Given the description of an element on the screen output the (x, y) to click on. 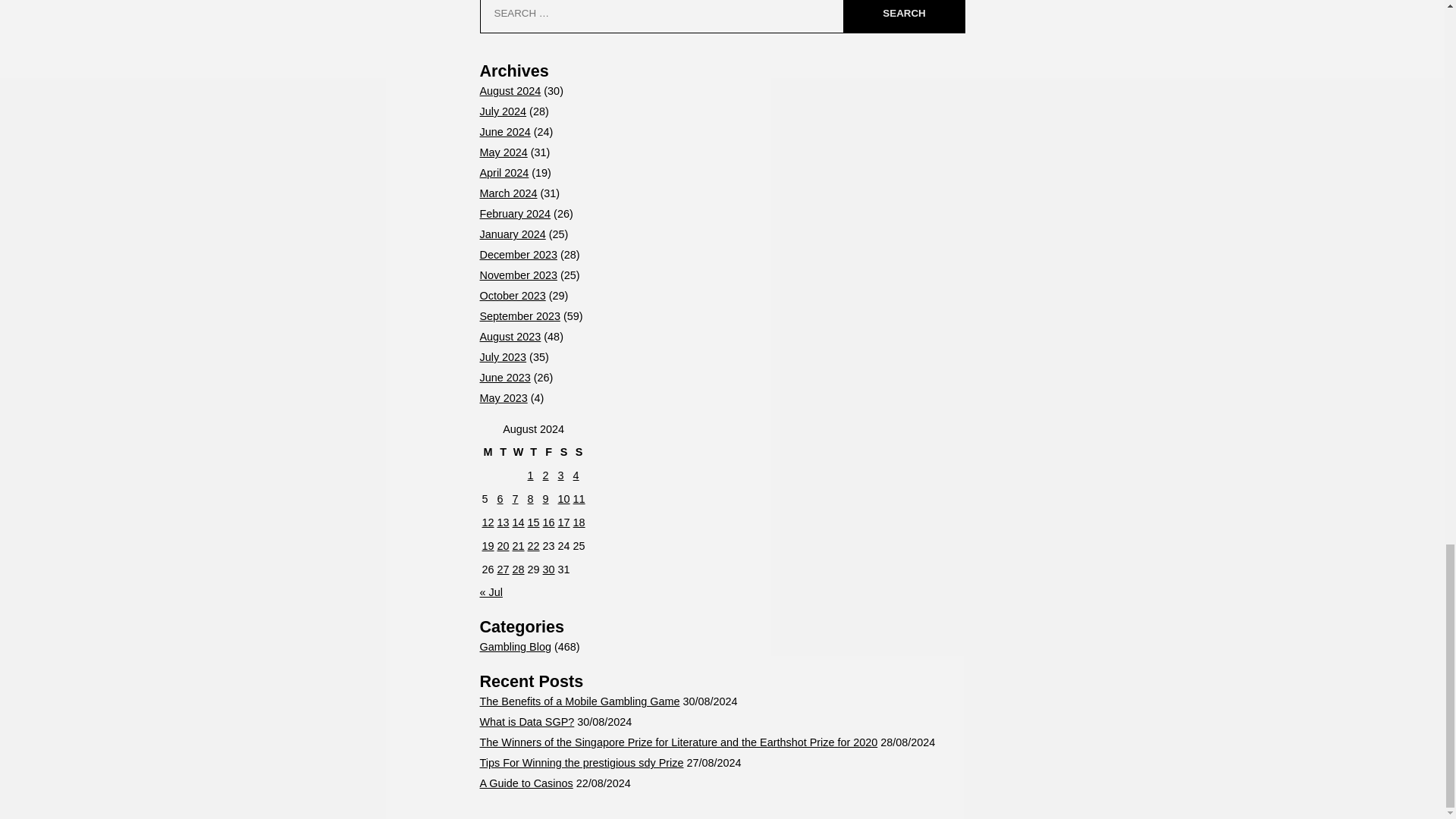
July 2023 (502, 357)
March 2024 (508, 193)
13 (503, 522)
May 2024 (503, 152)
May 2023 (503, 398)
15 (533, 522)
12 (488, 522)
November 2023 (517, 275)
10 (563, 499)
Search (903, 16)
